Given the description of an element on the screen output the (x, y) to click on. 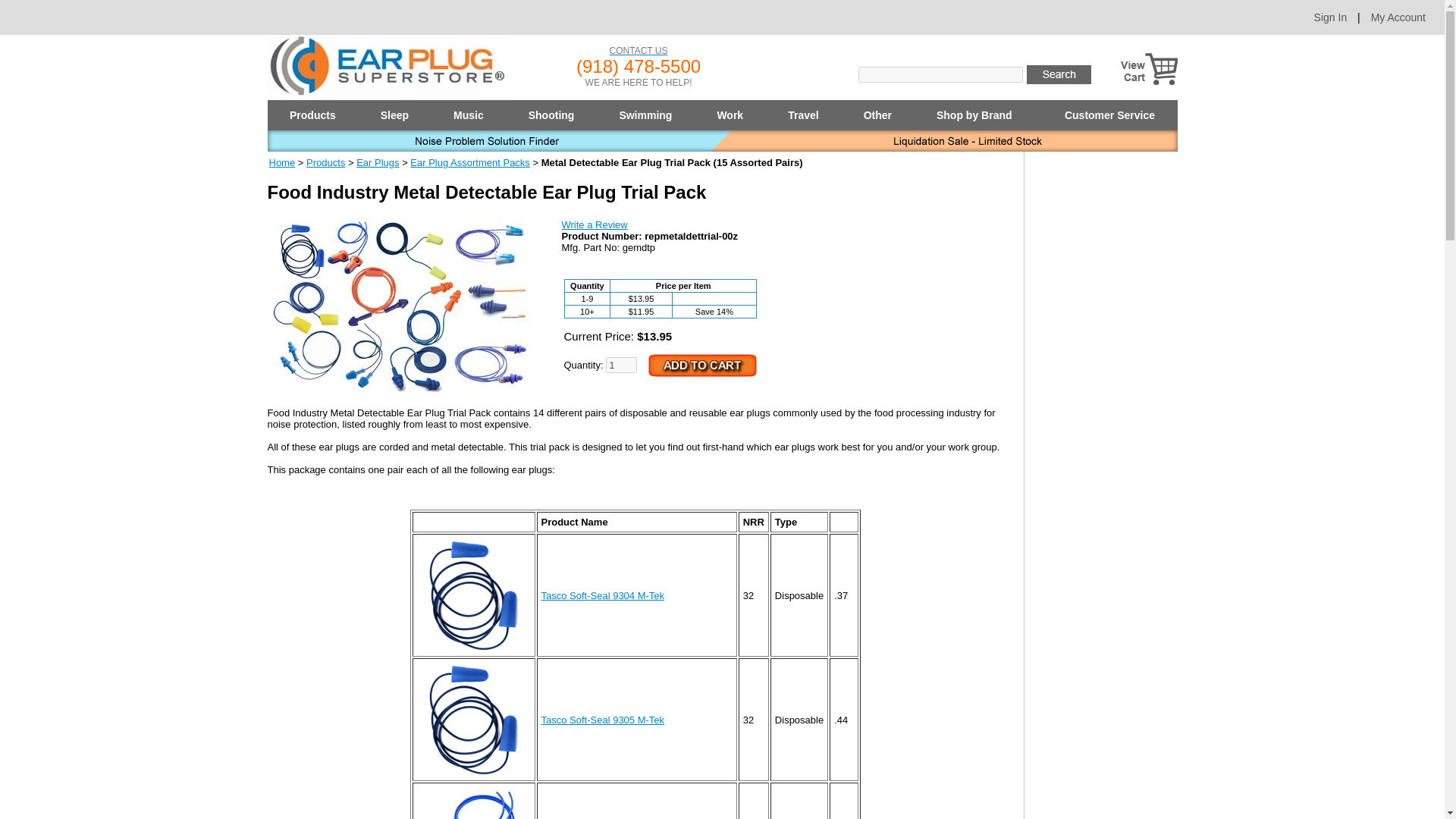
My Account (1398, 17)
Sign In (1331, 17)
1 (621, 365)
Products (312, 114)
CONTACT US (639, 50)
search (1058, 74)
EarPlugStore.com (386, 66)
